Given the description of an element on the screen output the (x, y) to click on. 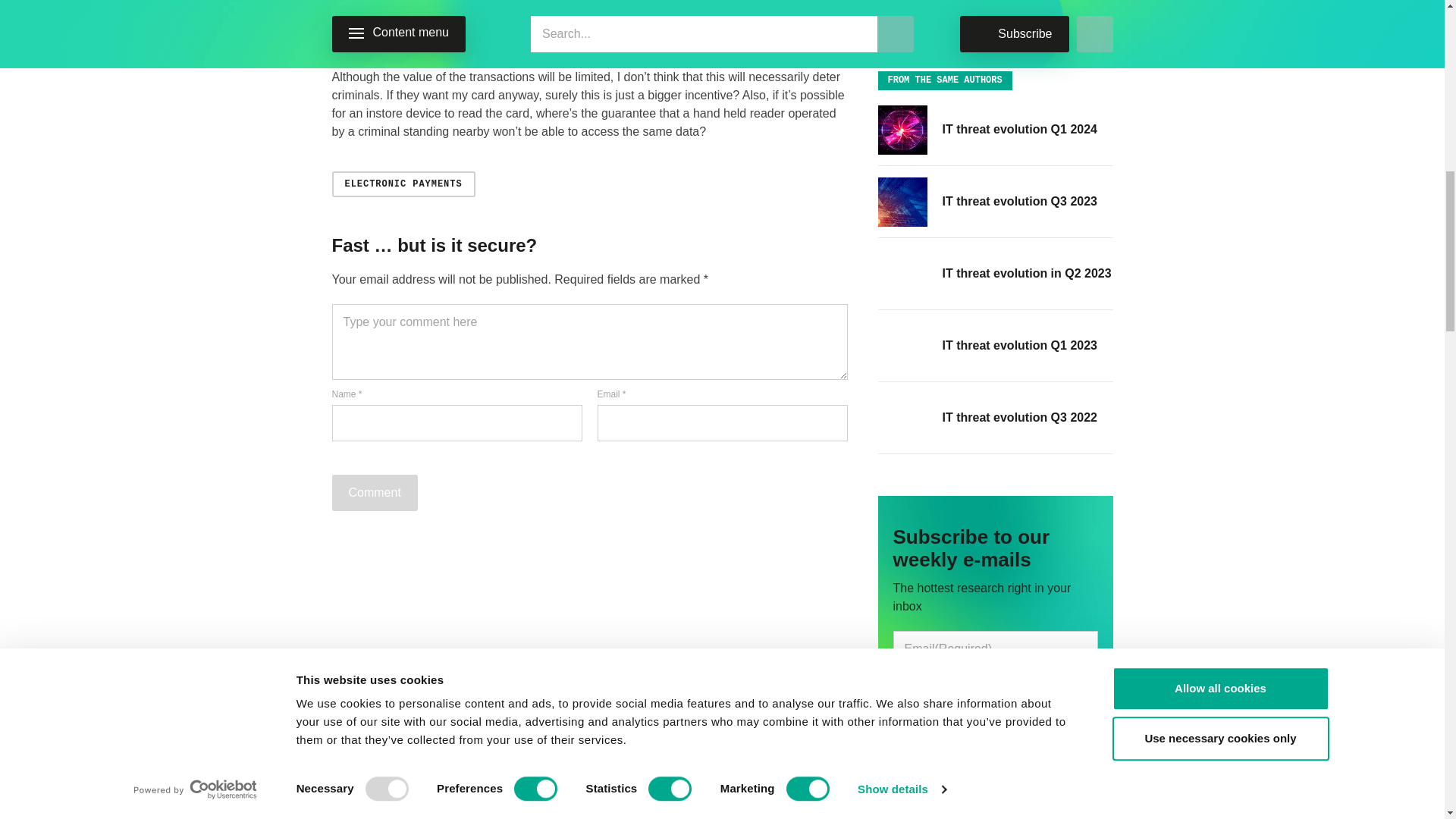
Comment (374, 493)
